Given the description of an element on the screen output the (x, y) to click on. 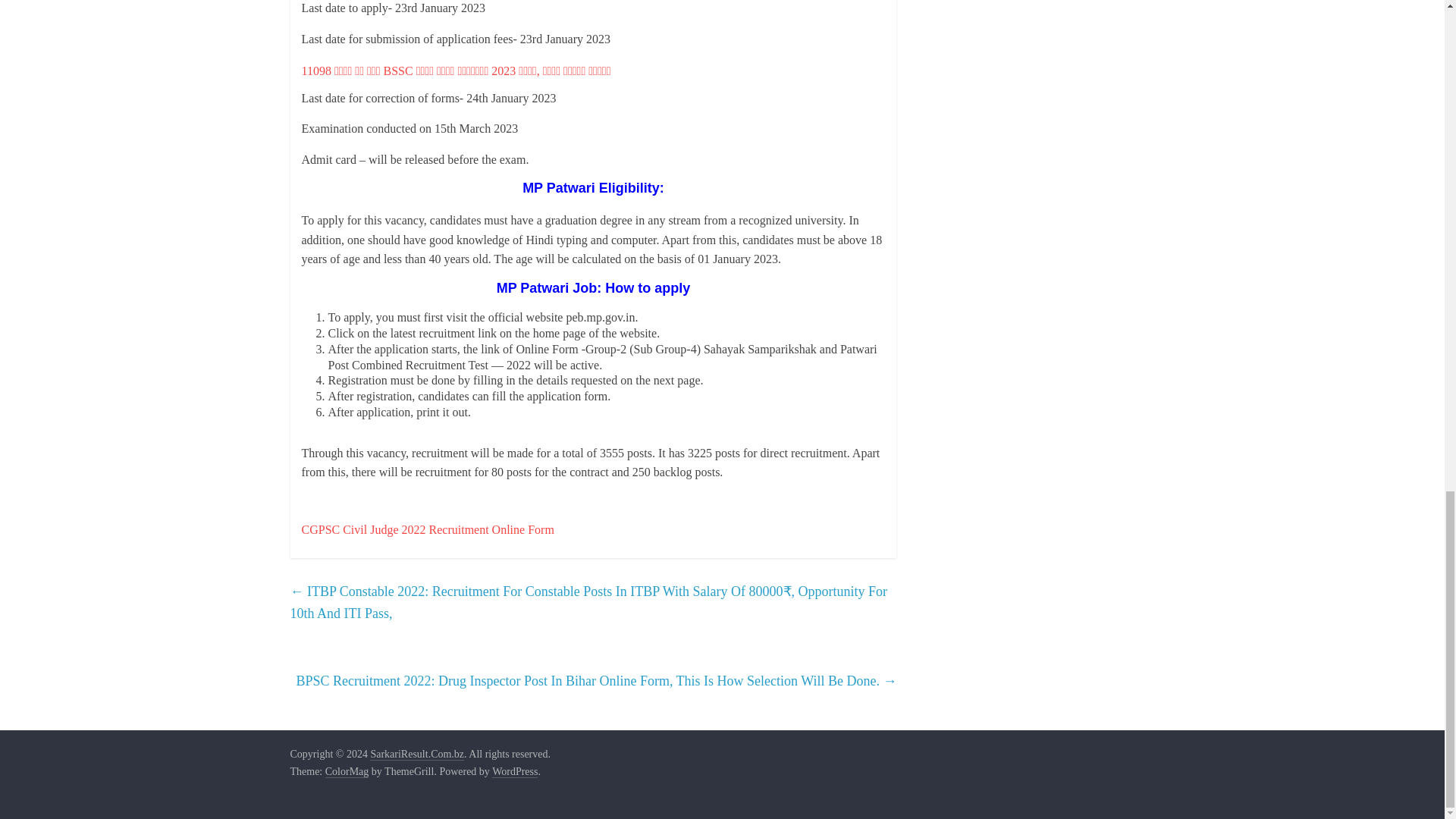
SarkariResult.Com.bz (416, 754)
ColorMag (346, 771)
WordPress (514, 771)
CGPSC Civil Judge 2022 Recruitment Online Form (427, 529)
WordPress (514, 771)
ColorMag (346, 771)
SarkariResult.Com.bz (416, 754)
